Given the description of an element on the screen output the (x, y) to click on. 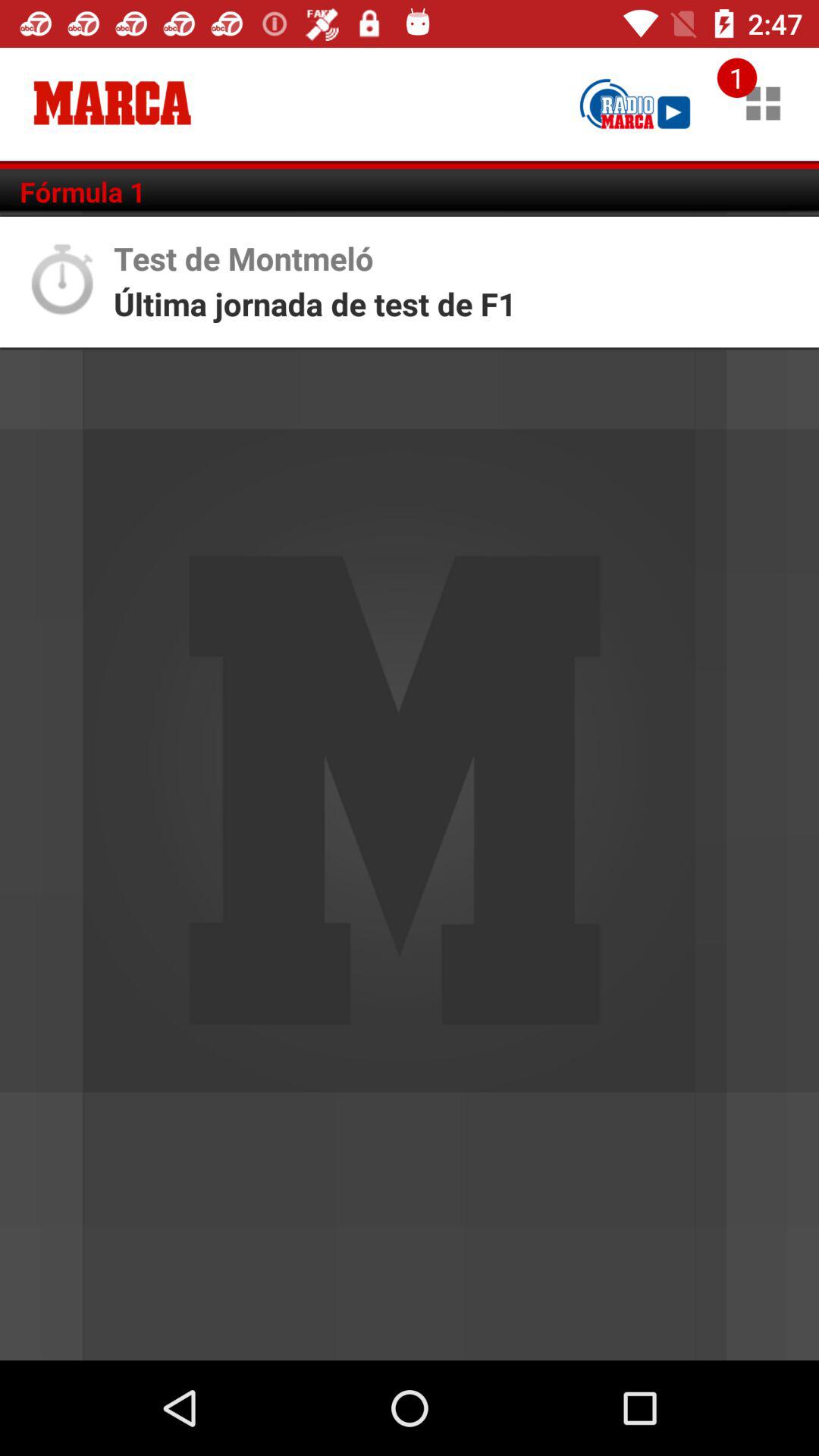
open notifications (763, 103)
